Given the description of an element on the screen output the (x, y) to click on. 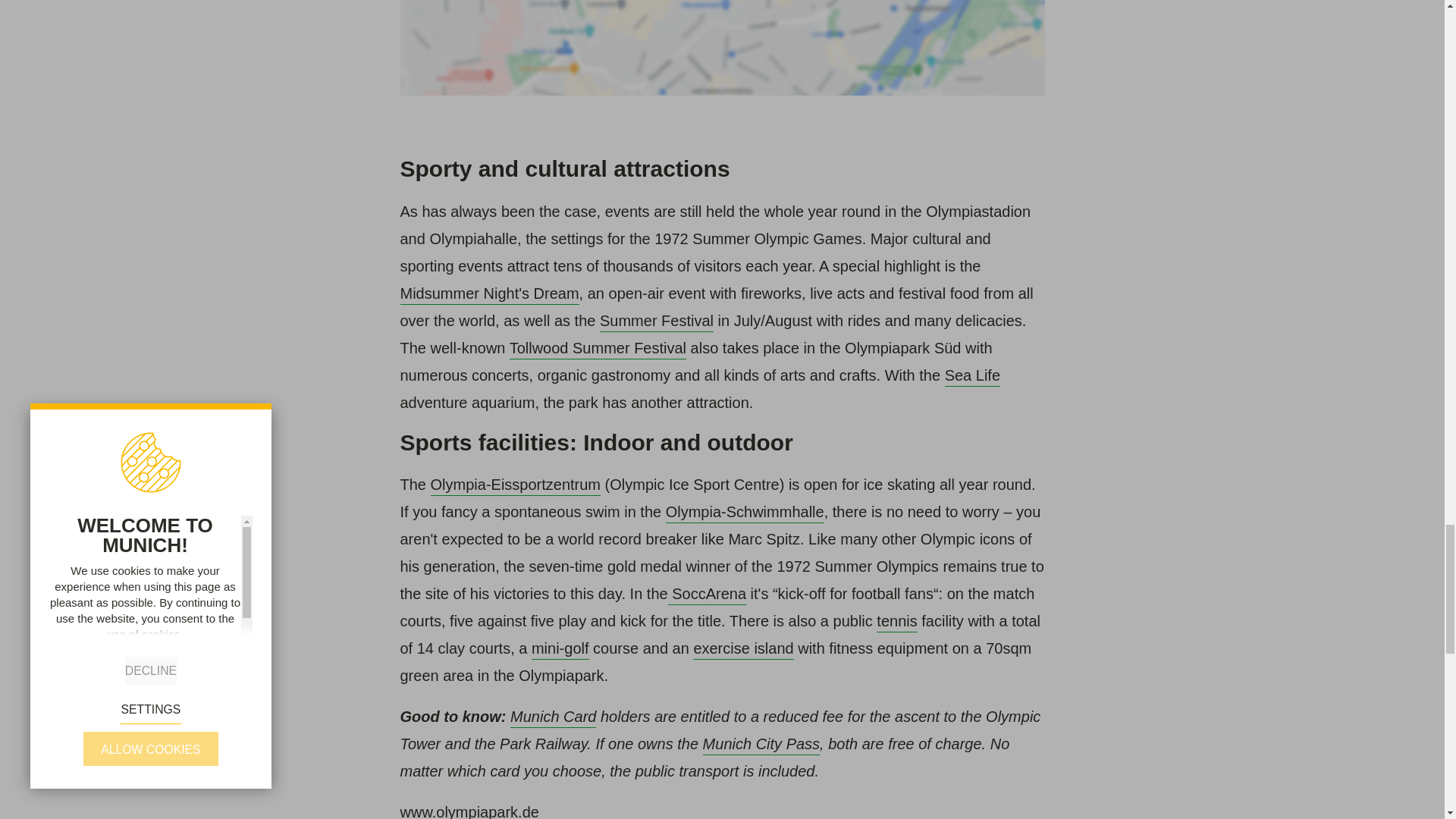
Website Olympiapark - Midsummer Night's Dream (489, 294)
